Given the description of an element on the screen output the (x, y) to click on. 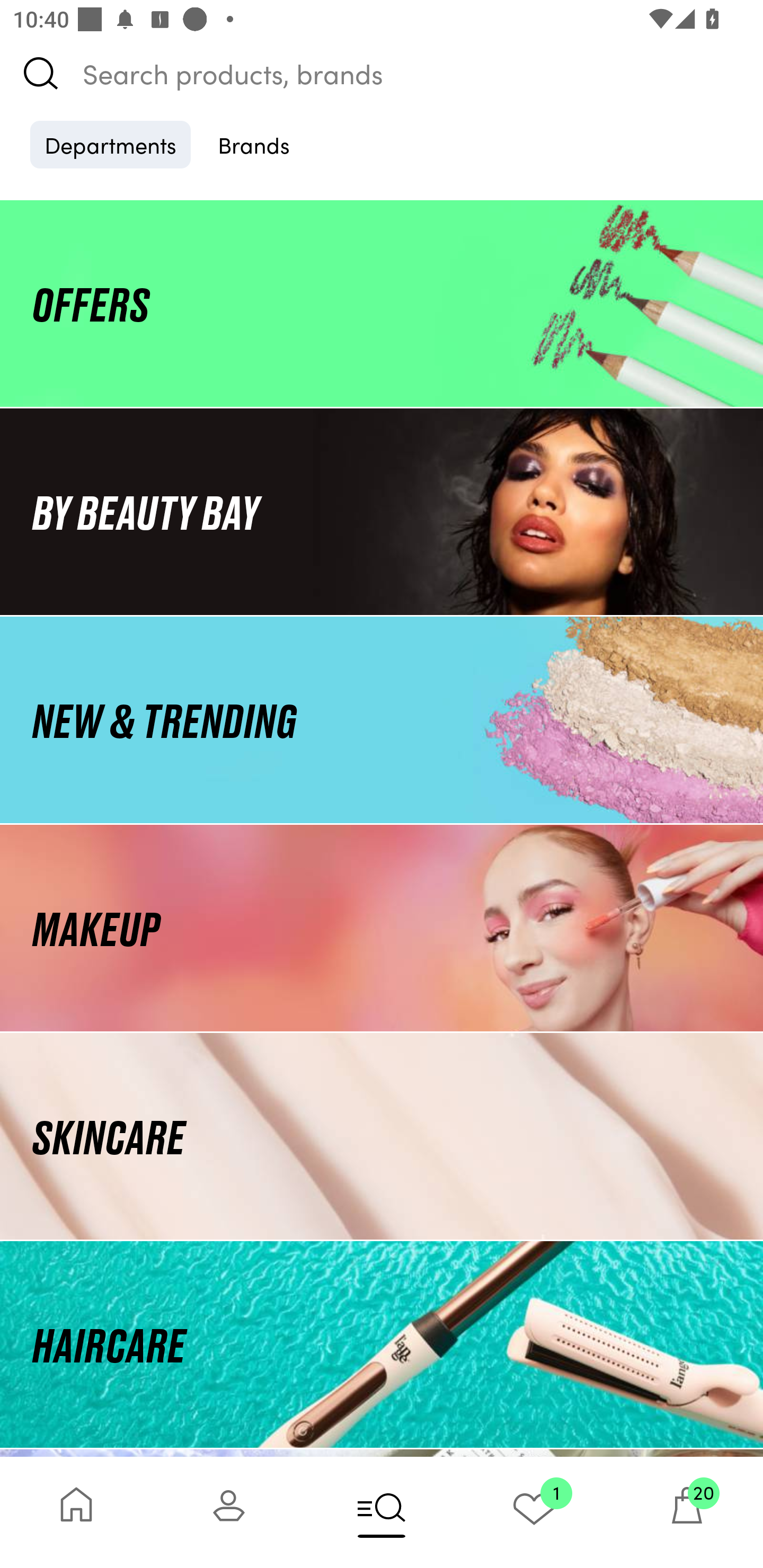
Search products, brands (381, 72)
Departments (110, 143)
Brands (253, 143)
OFFERS (381, 303)
BY BEAUTY BAY (381, 510)
NEW & TRENDING (381, 719)
MAKEUP (381, 927)
SKINCARE (381, 1136)
HAIRCARE (381, 1344)
1 (533, 1512)
20 (686, 1512)
